Given the description of an element on the screen output the (x, y) to click on. 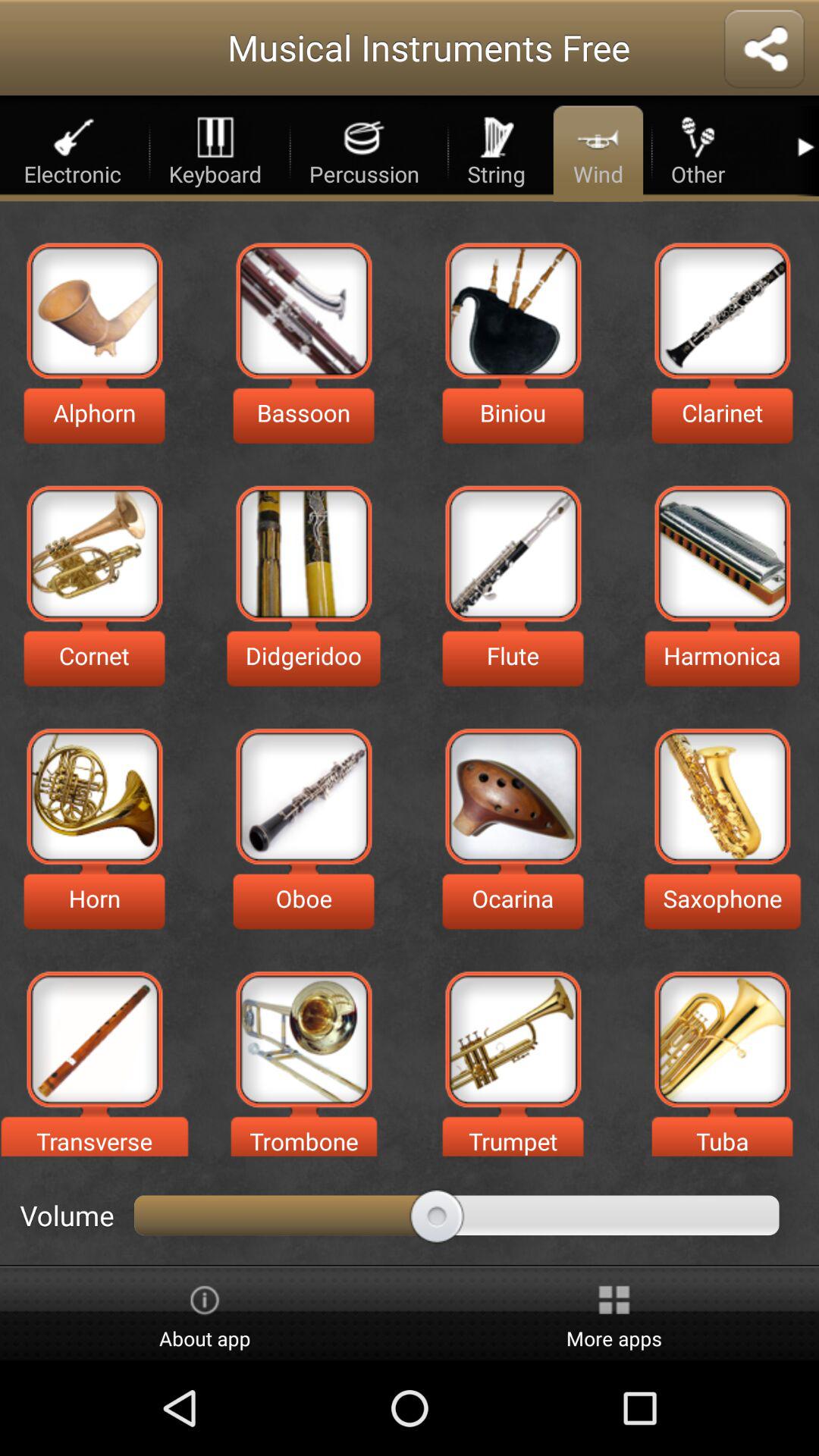
click to harmonica option (722, 553)
